Given the description of an element on the screen output the (x, y) to click on. 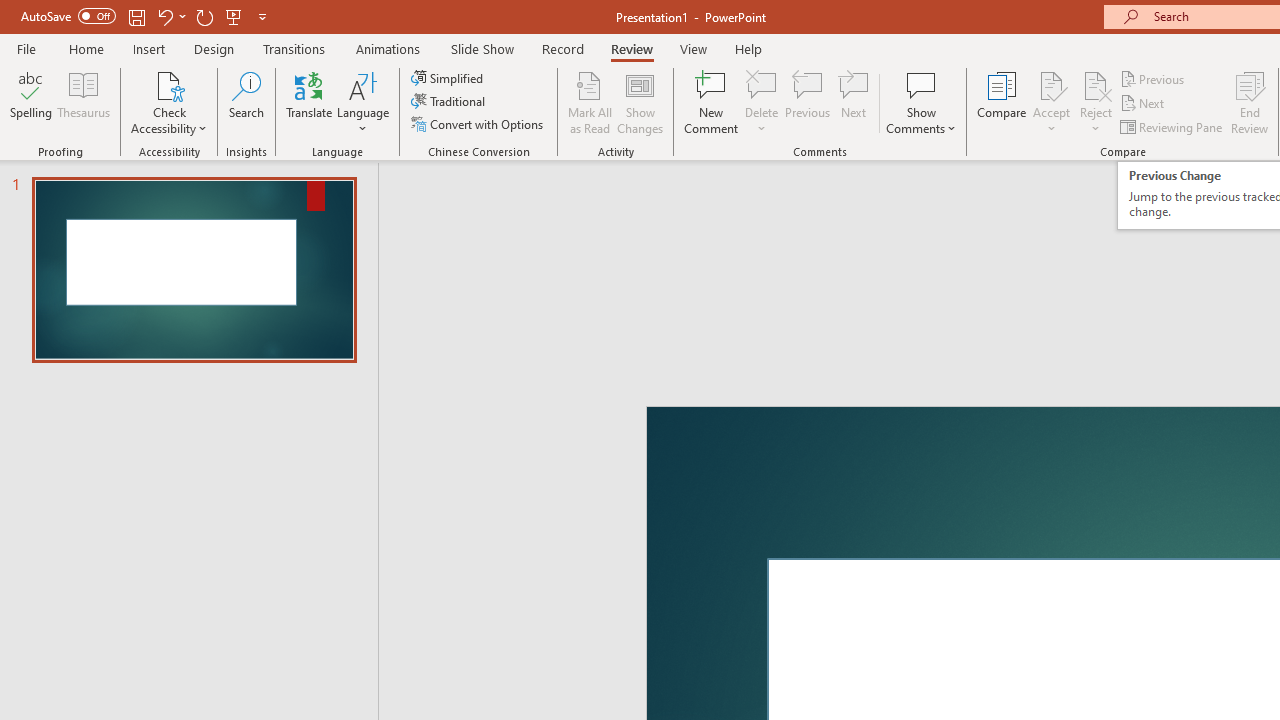
Reject (1096, 102)
New Comment (711, 102)
Accept Change (1051, 84)
Translate (309, 102)
Traditional (449, 101)
Show Changes (639, 102)
Reviewing Pane (1172, 126)
